Given the description of an element on the screen output the (x, y) to click on. 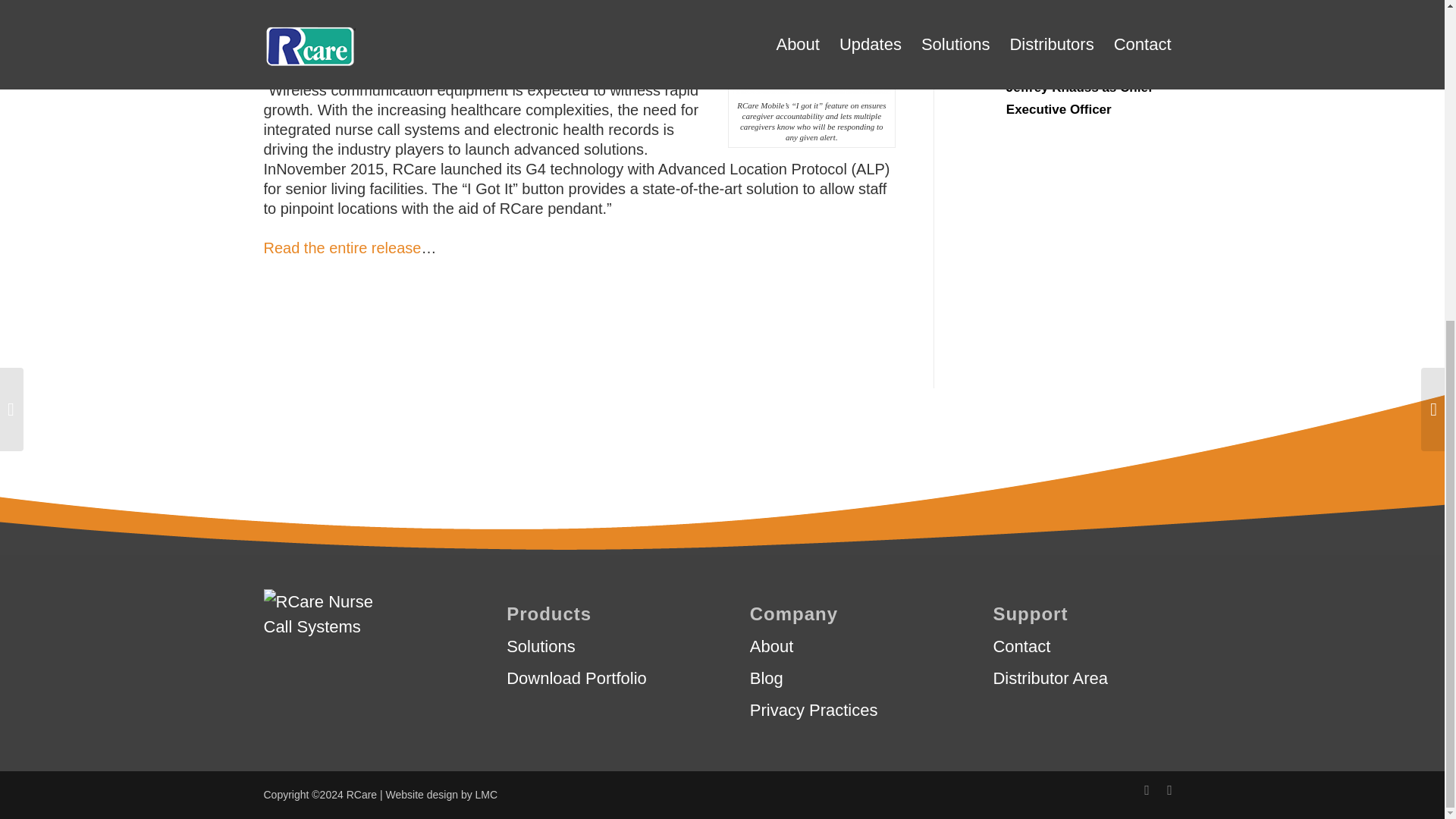
Contact (1086, 646)
Read the entire release (342, 247)
Blog (843, 678)
About (843, 646)
Website design by LMC (441, 794)
Solutions (600, 646)
